Given the description of an element on the screen output the (x, y) to click on. 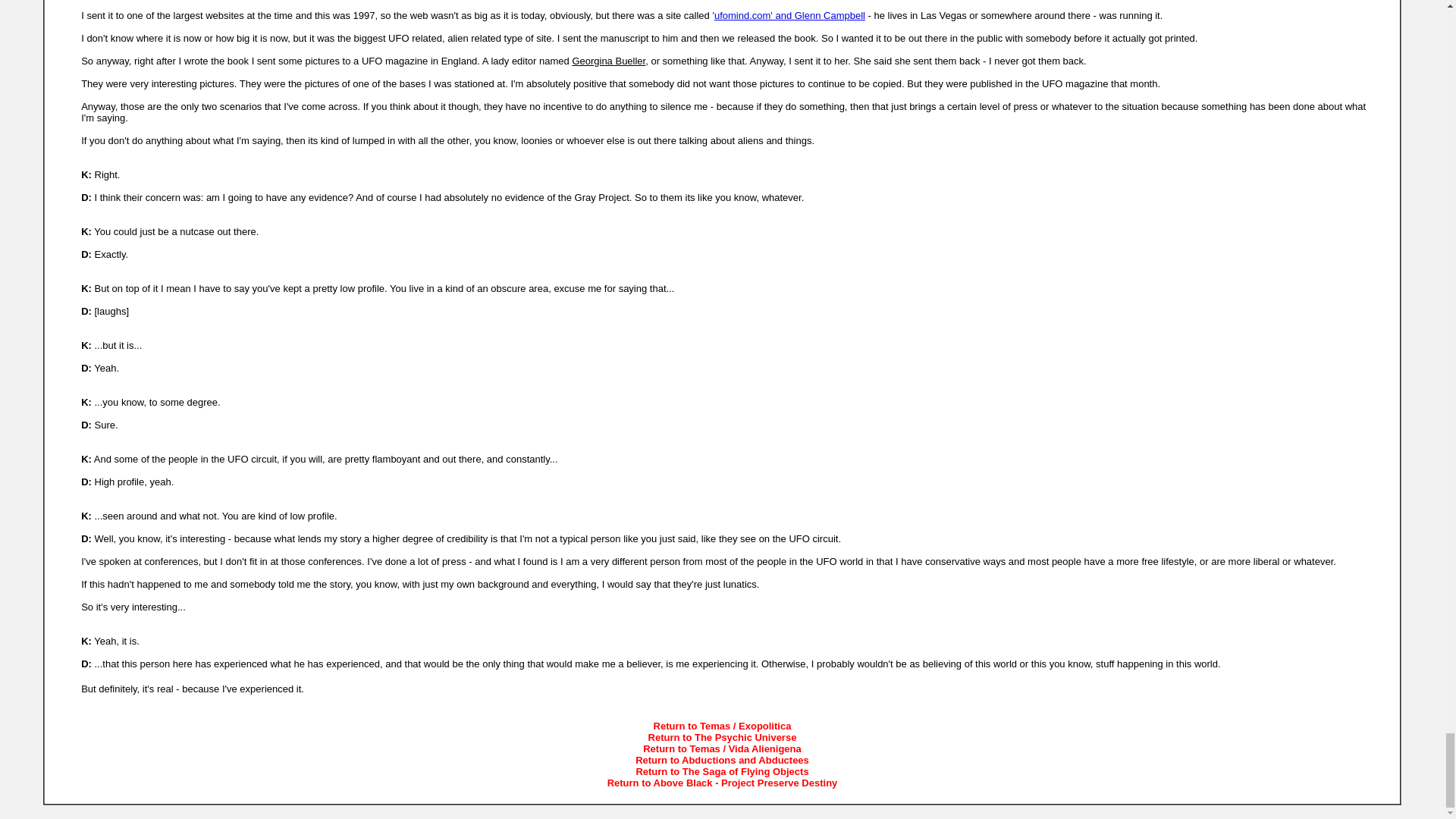
Return to Abductions and Abductees (721, 759)
Return to Above Black - Project Preserve Destiny (722, 782)
ufomind.com' and Glenn Campbell (789, 15)
Return to The Saga of Flying Objects (721, 771)
Return to The Psychic Universe (721, 737)
